Given the description of an element on the screen output the (x, y) to click on. 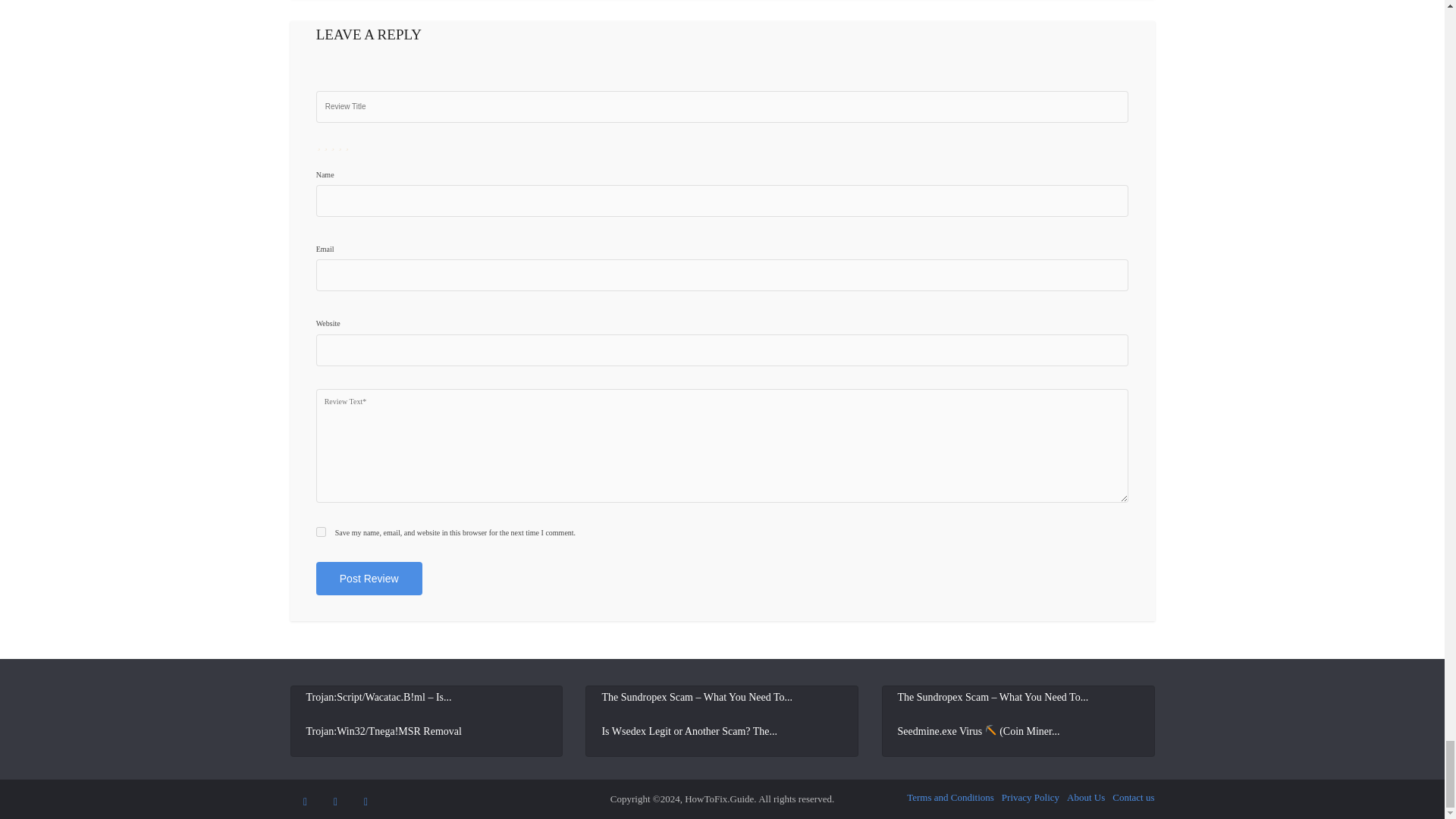
yes (320, 532)
Post Review (368, 578)
